Given the description of an element on the screen output the (x, y) to click on. 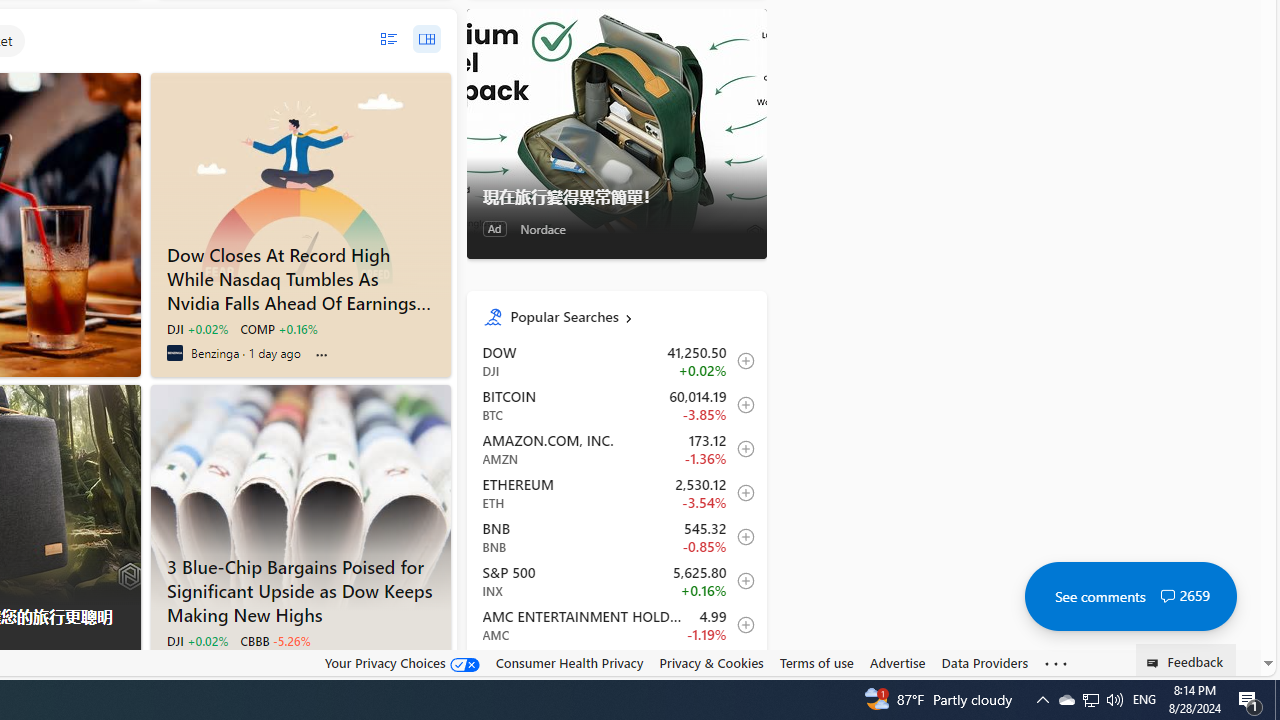
Consumer Health Privacy (569, 663)
Terms of use (816, 663)
Your Privacy Choices (401, 663)
INX S&P 500 increase 5,625.80 +8.96 +0.16% itemundefined (615, 580)
Data Providers (983, 662)
Class: oneFooter_seeMore-DS-EntryPoint1-1 (1055, 663)
DJI DOW increase 41,250.50 +9.98 +0.02% itemundefined (615, 361)
Privacy & Cookies (711, 663)
